Given the description of an element on the screen output the (x, y) to click on. 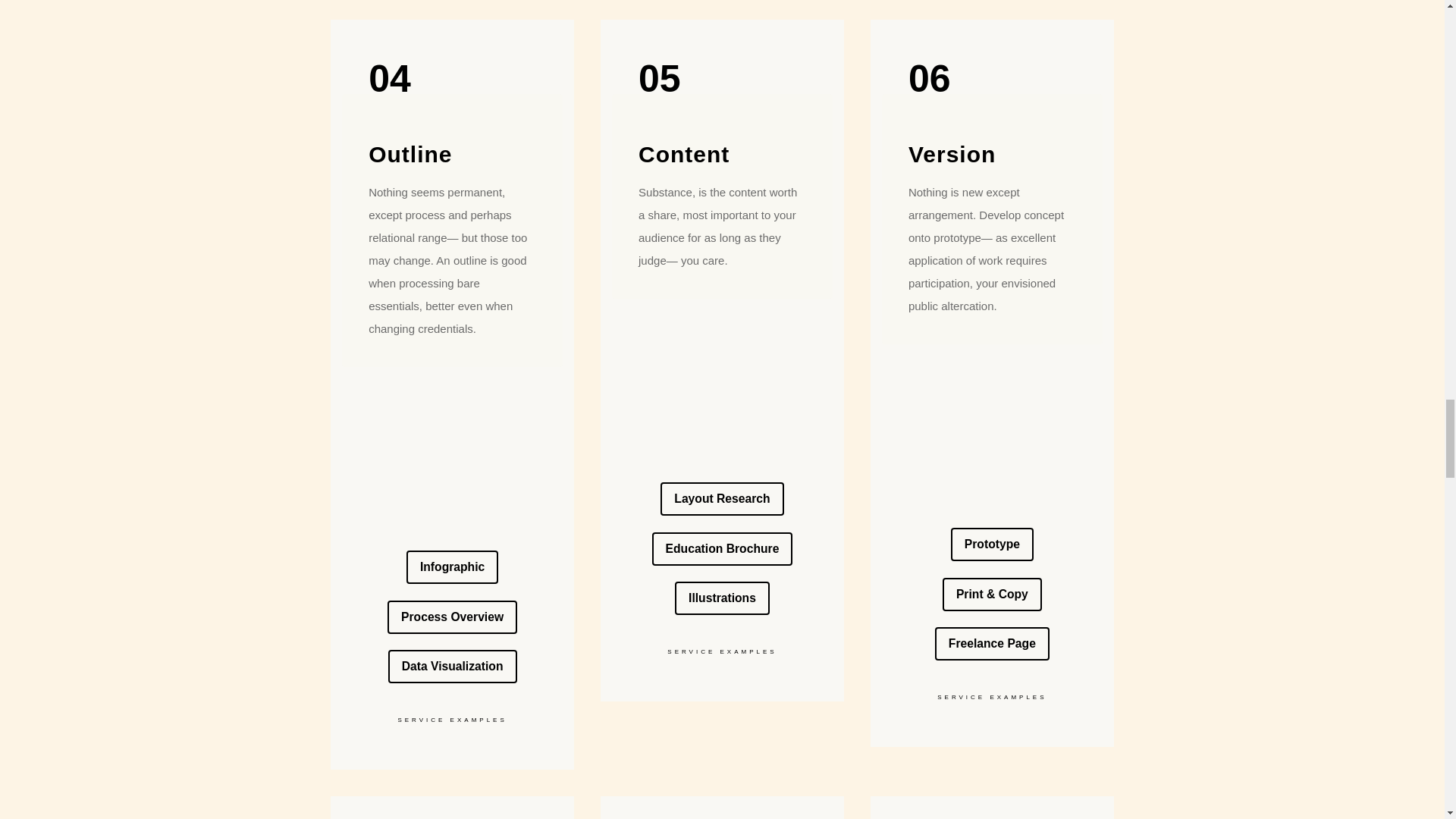
Infographic (451, 566)
Education Brochure (722, 548)
Process Overview (451, 616)
Data Visualization (452, 666)
Freelance Page (991, 643)
Layout Research (722, 498)
Prototype (991, 544)
Illustrations (722, 598)
